Given the description of an element on the screen output the (x, y) to click on. 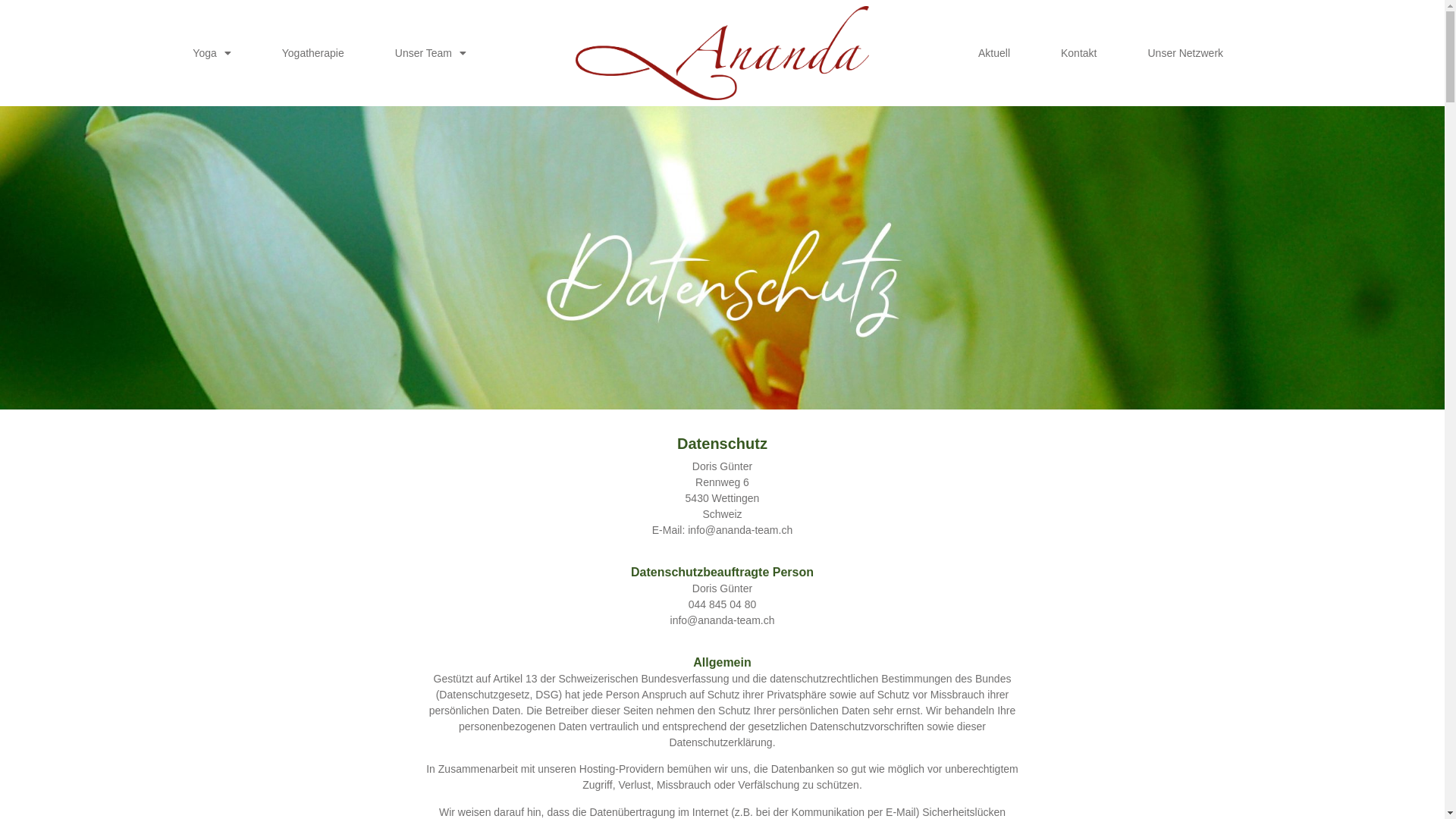
Yoga Element type: text (211, 53)
Unser Netzwerk Element type: text (1185, 53)
Unser Team Element type: text (430, 53)
Aktuell Element type: text (994, 53)
Kontakt Element type: text (1078, 53)
Yogatherapie Element type: text (312, 53)
